Given the description of an element on the screen output the (x, y) to click on. 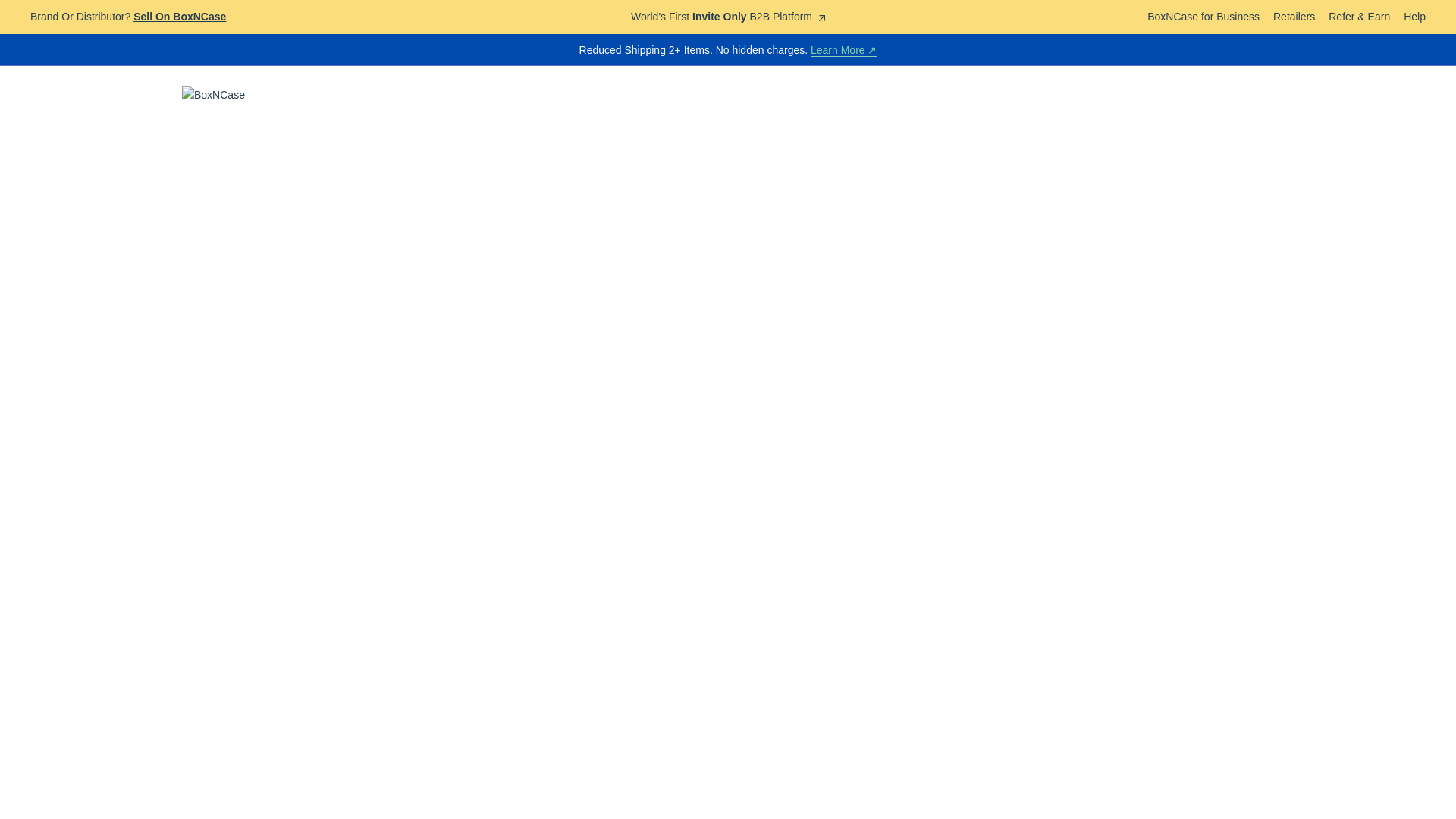
Sell On BoxNCase (179, 16)
Help (1414, 16)
Skip to content (7, 3)
Retailers (1293, 16)
BoxNCase for Business (1203, 16)
